Given the description of an element on the screen output the (x, y) to click on. 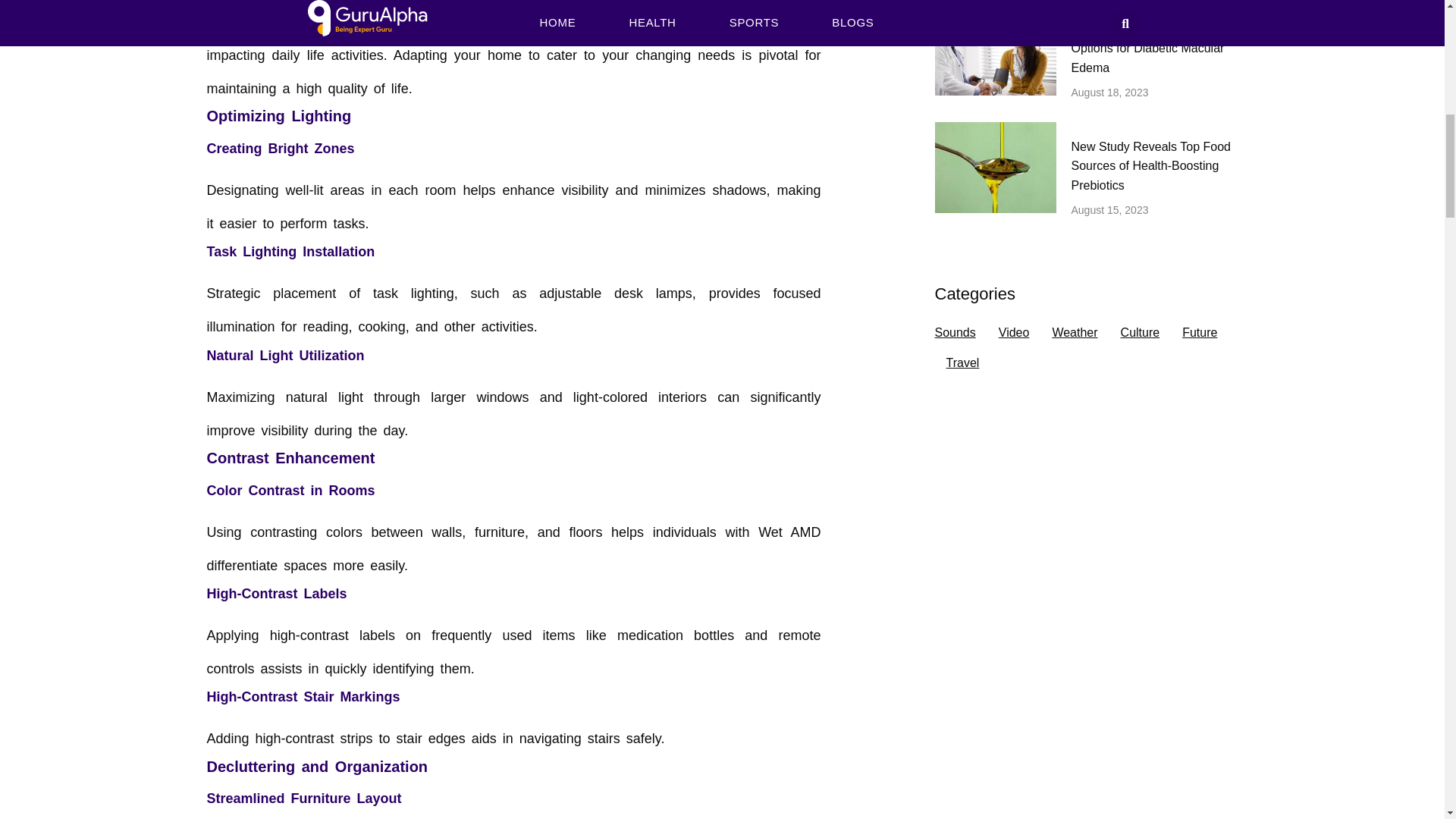
Culture (1140, 332)
Sounds (954, 332)
Travel (962, 363)
Weather (1074, 332)
Treatment and Medication Options for Diabetic Macular Edema (1147, 48)
Video (1013, 332)
Future (1199, 332)
